Given the description of an element on the screen output the (x, y) to click on. 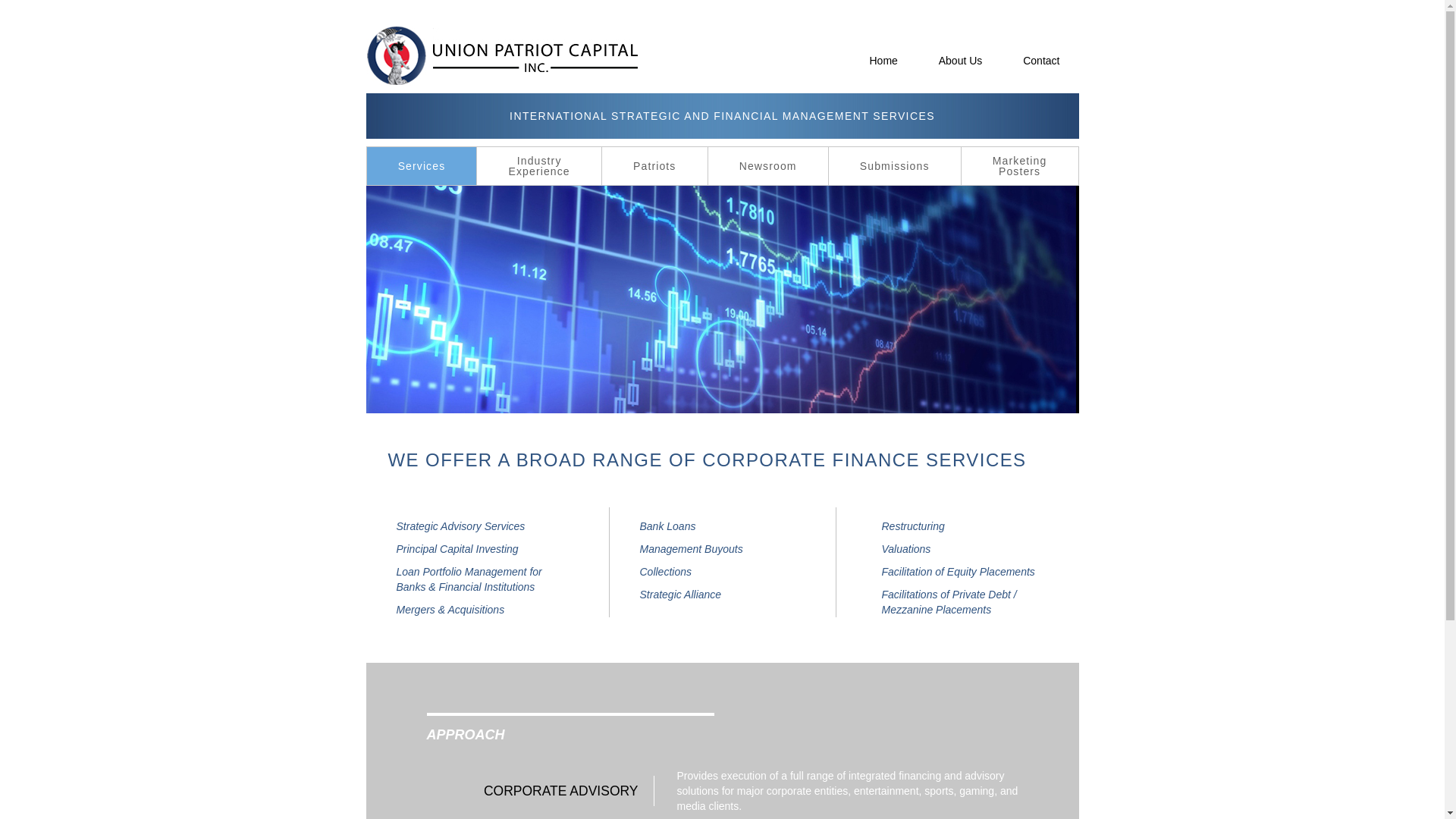
Newsroom (767, 166)
Services (421, 166)
About Us (960, 60)
Home (882, 60)
Contact (539, 166)
Submissions (1040, 60)
Patriots (894, 166)
